Given the description of an element on the screen output the (x, y) to click on. 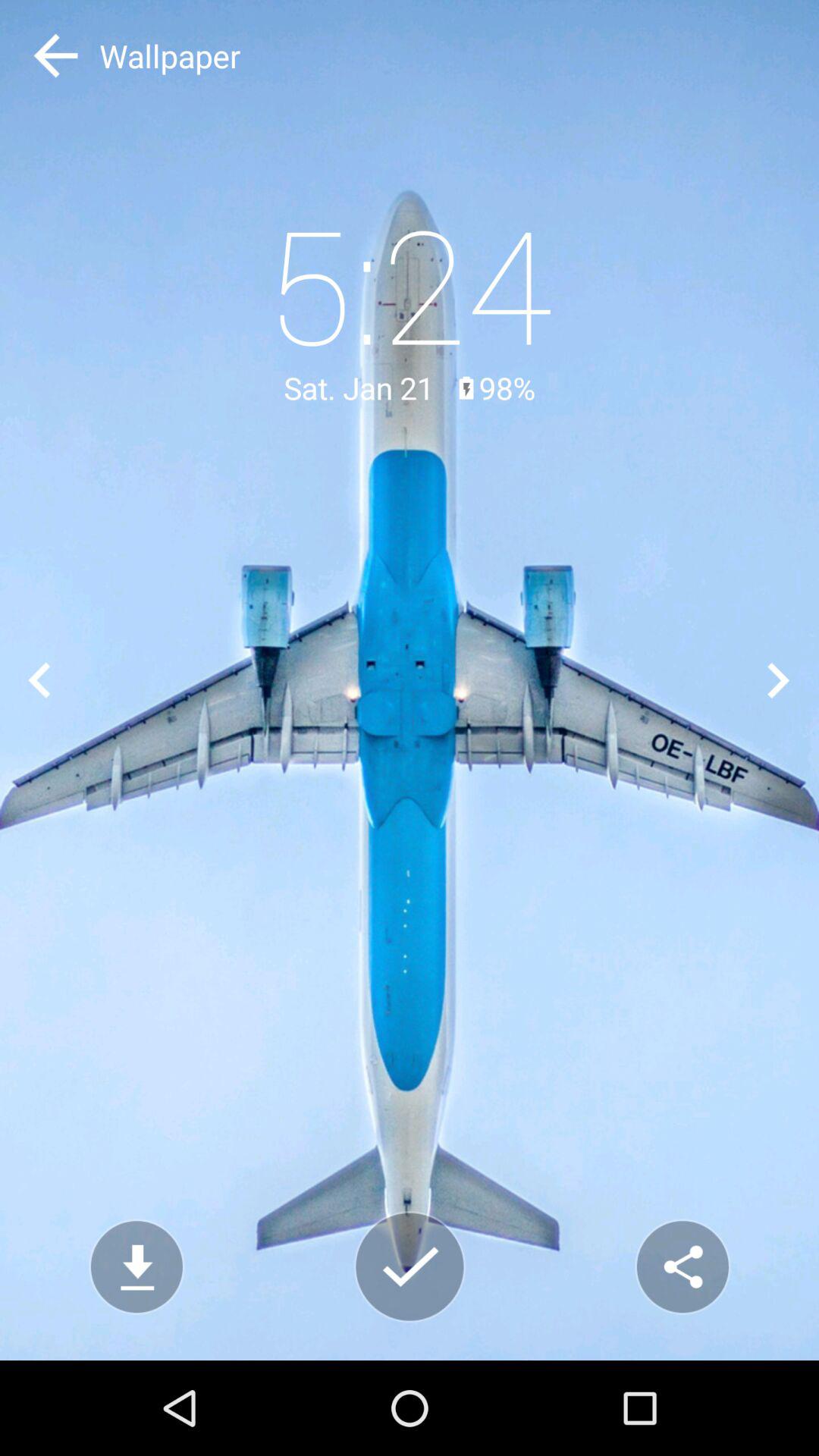
sharing icon (682, 1266)
